Given the description of an element on the screen output the (x, y) to click on. 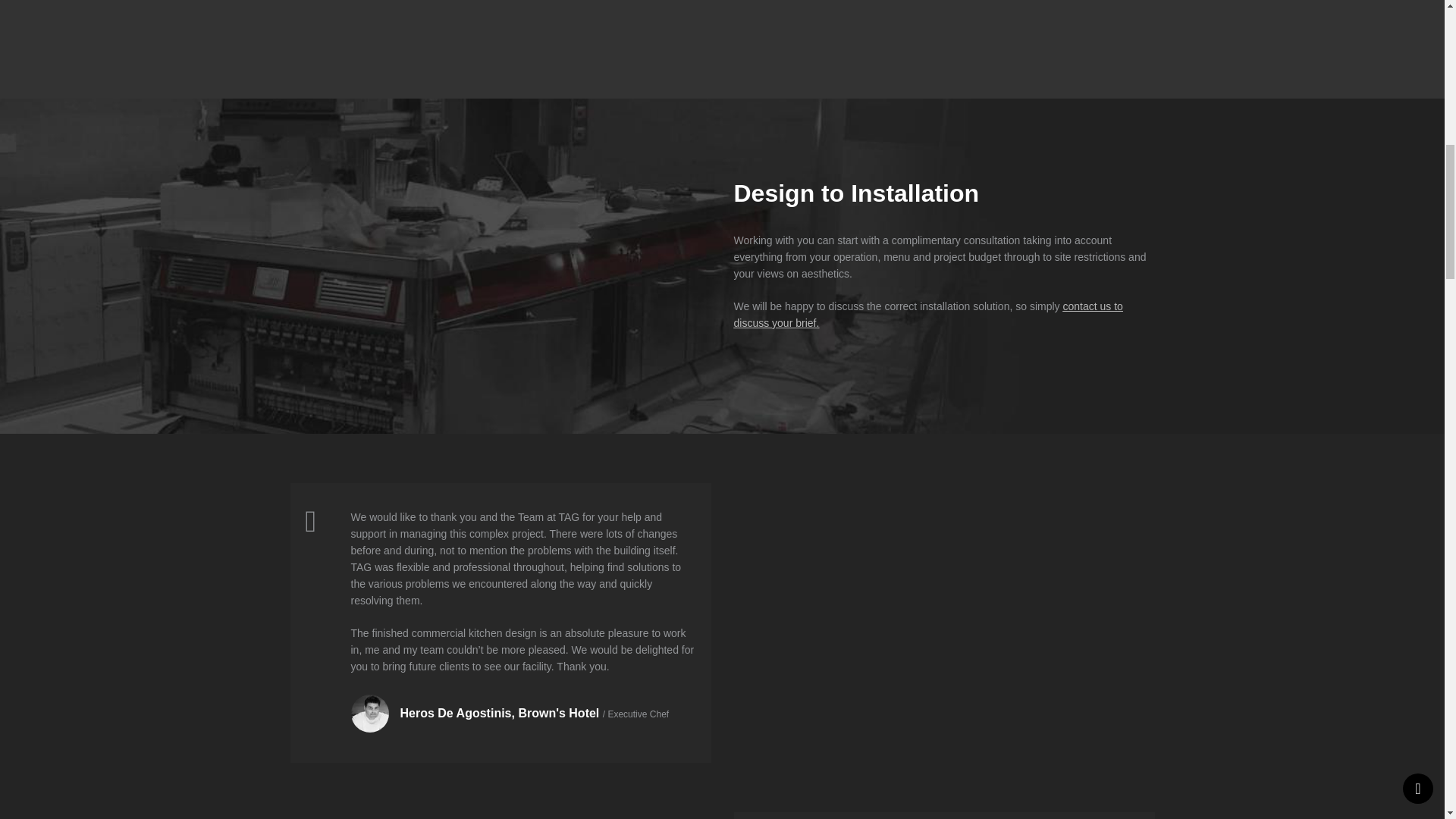
contact us to discuss your brief. (927, 314)
